Given the description of an element on the screen output the (x, y) to click on. 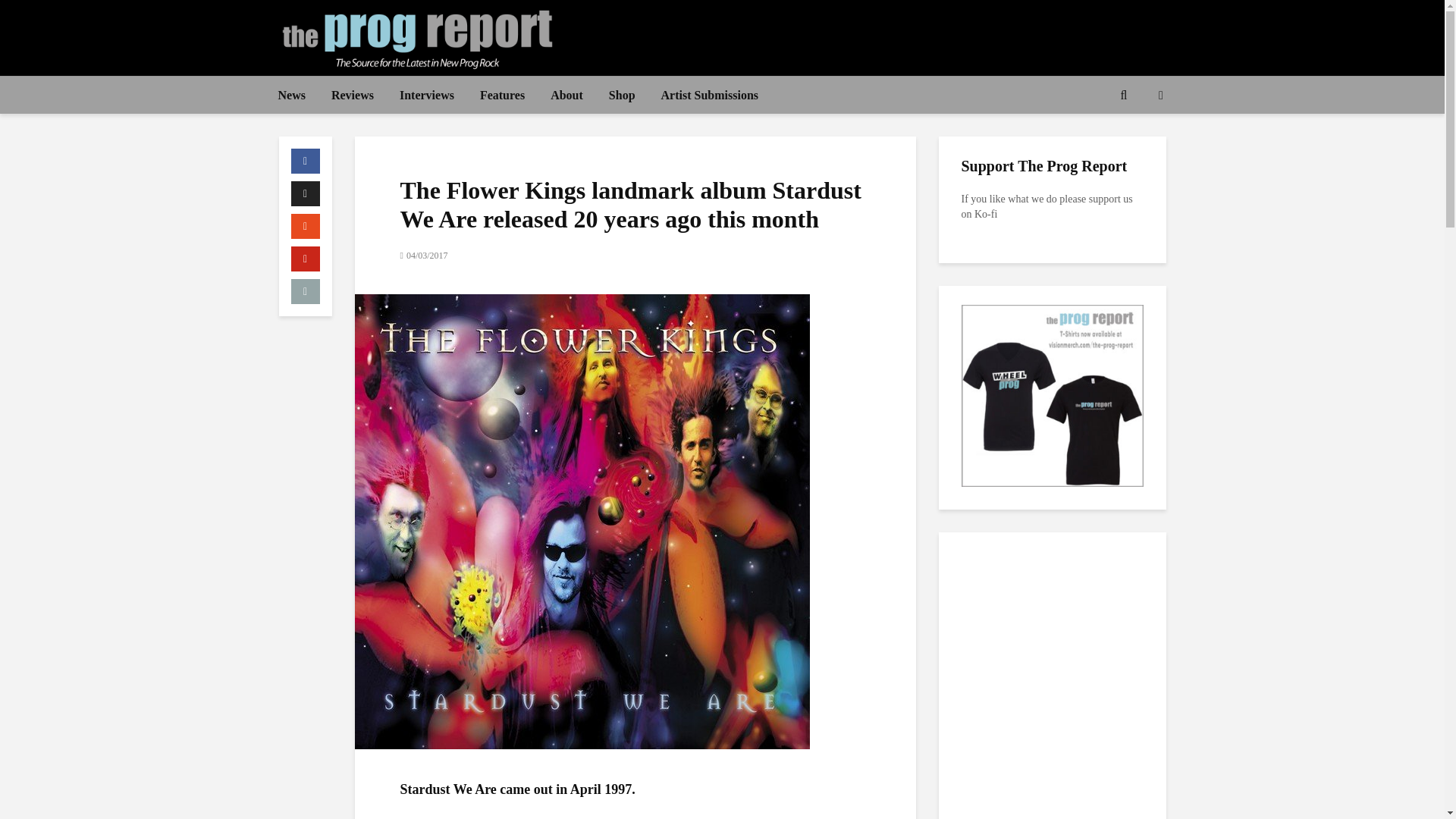
News (291, 95)
Interviews (426, 95)
Artist Submissions (709, 95)
Advertisement (890, 35)
Shop (621, 95)
About (566, 95)
Features (501, 95)
Reviews (352, 95)
